Given the description of an element on the screen output the (x, y) to click on. 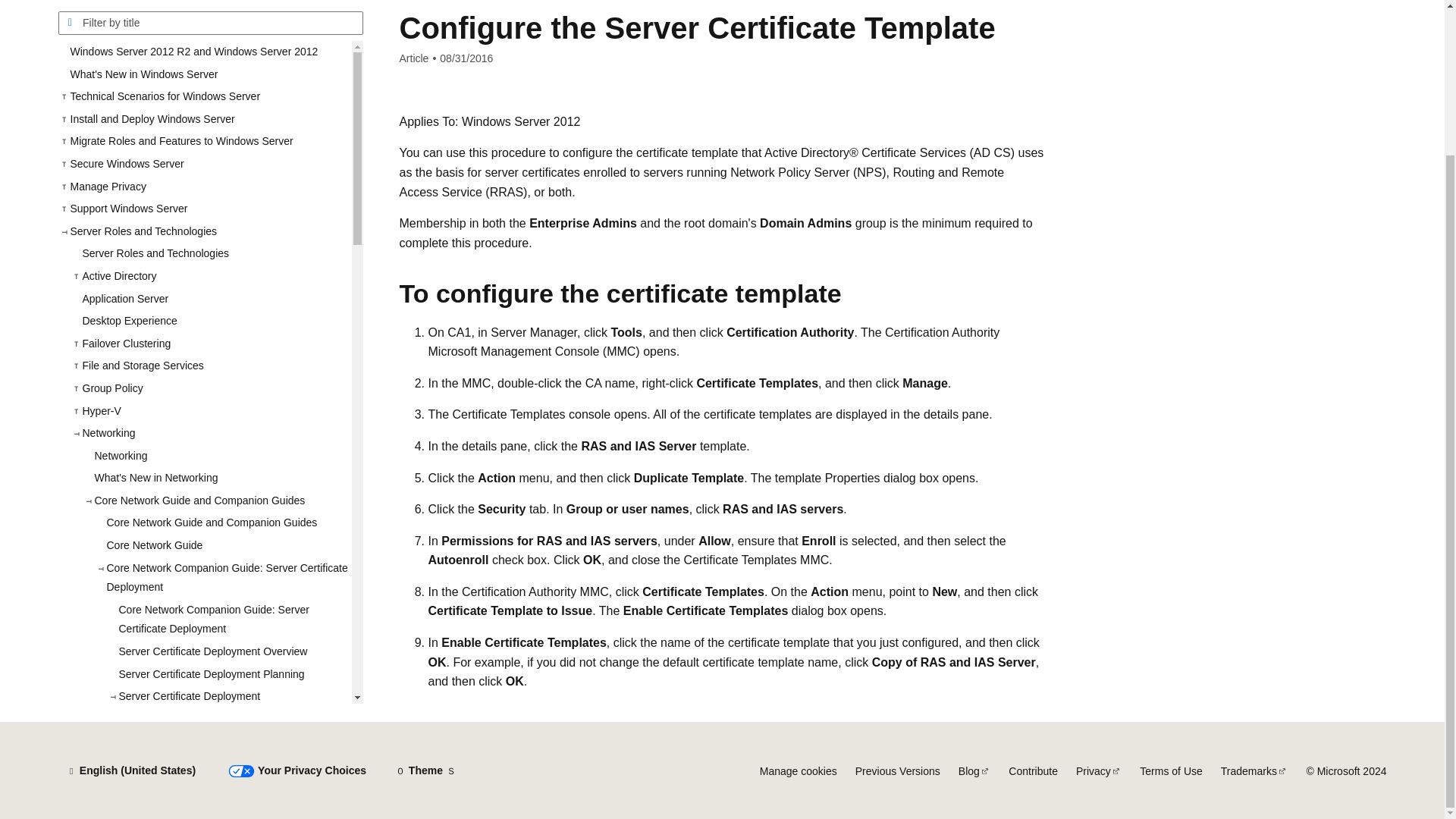
What's New in Windows Server (204, 39)
Theme (425, 770)
Core Network Guide and Companion Guides (222, 487)
What's New in Networking (215, 443)
More actions (1031, 1)
Server Roles and Technologies (209, 219)
Windows Server 2012 R2 and Windows Server 2012 (204, 16)
Networking (215, 421)
Core Network Guide (222, 510)
Application Server (209, 264)
Desktop Experience (209, 286)
Core Network Companion Guide: Server Certificate Deployment (228, 585)
